Given the description of an element on the screen output the (x, y) to click on. 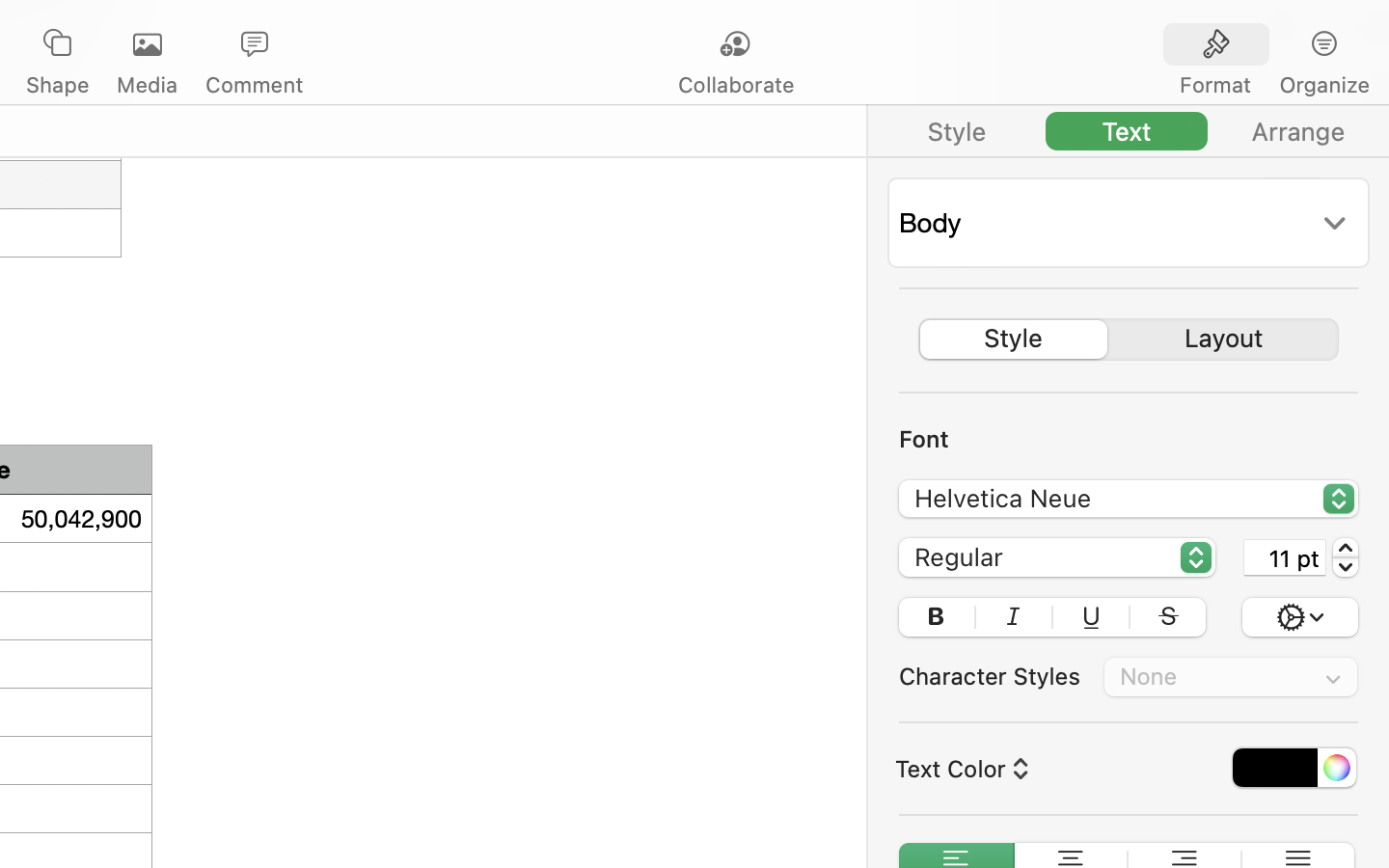
Font Element type: AXStaticText (924, 438)
